Given the description of an element on the screen output the (x, y) to click on. 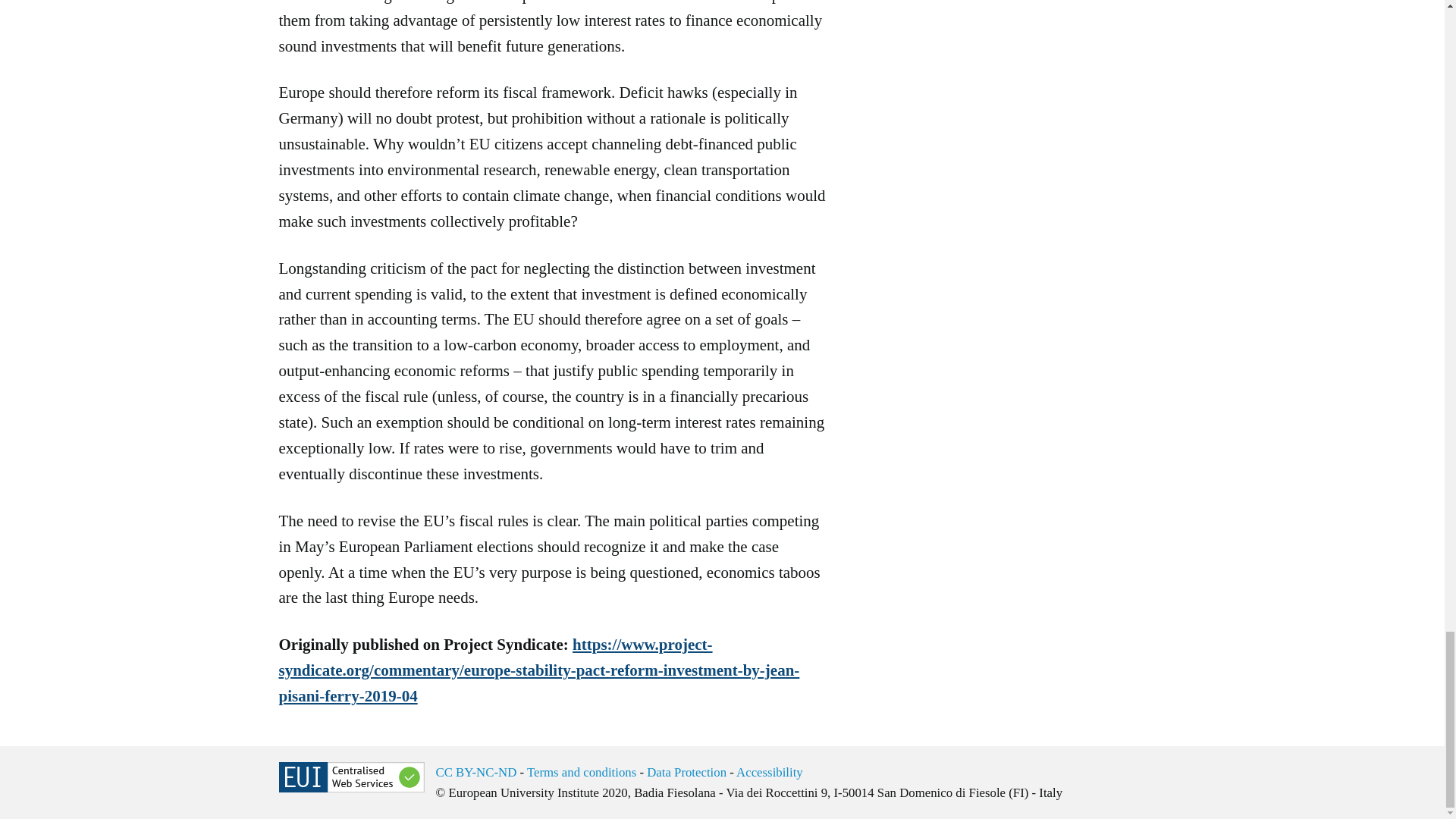
Accessibility (769, 771)
Data Protection (686, 771)
CC BY-NC-ND (475, 771)
Terms and conditions (581, 771)
